Given the description of an element on the screen output the (x, y) to click on. 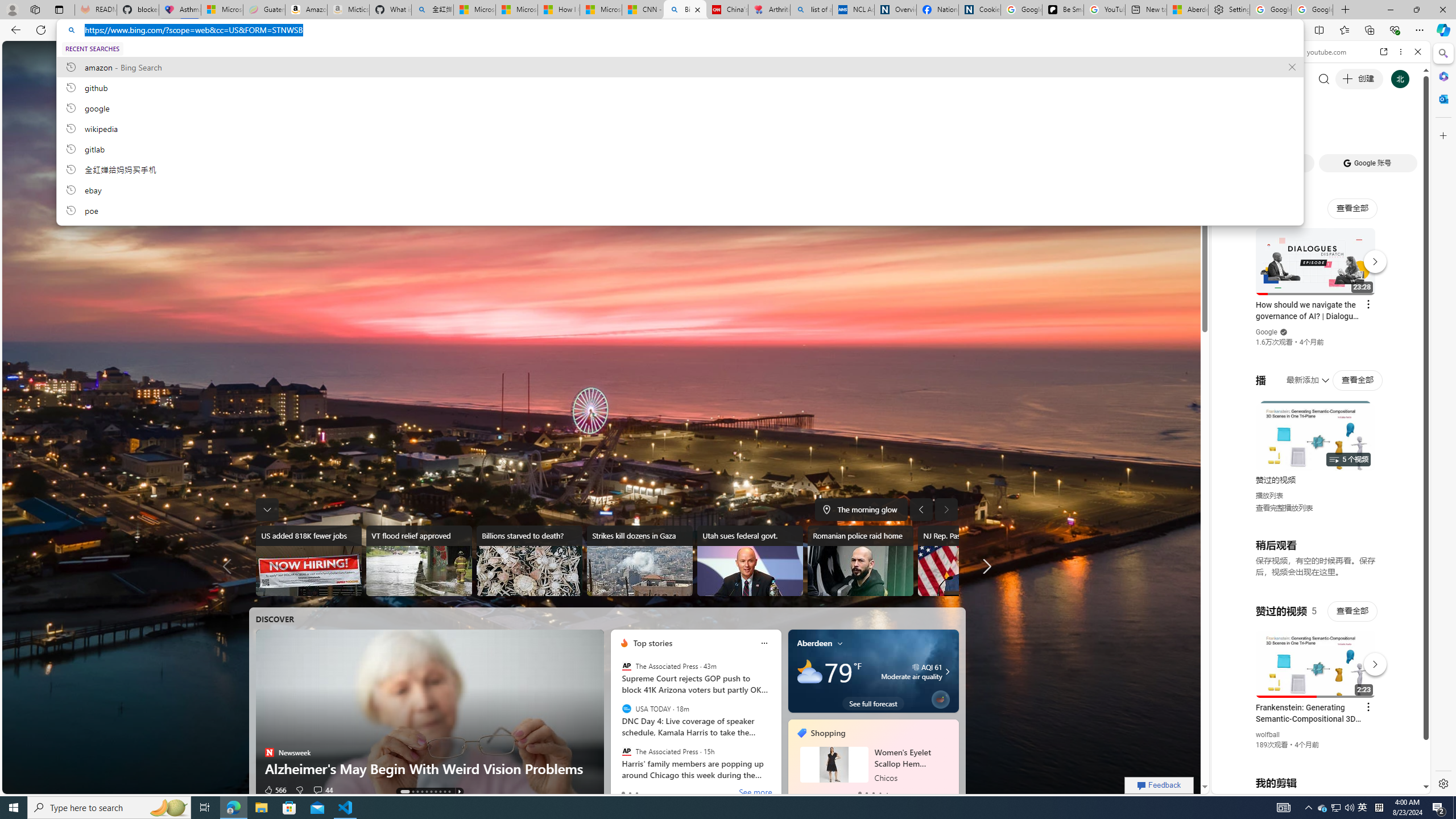
Settings and more (Alt+F) (1419, 29)
New tab (1146, 9)
